Given the description of an element on the screen output the (x, y) to click on. 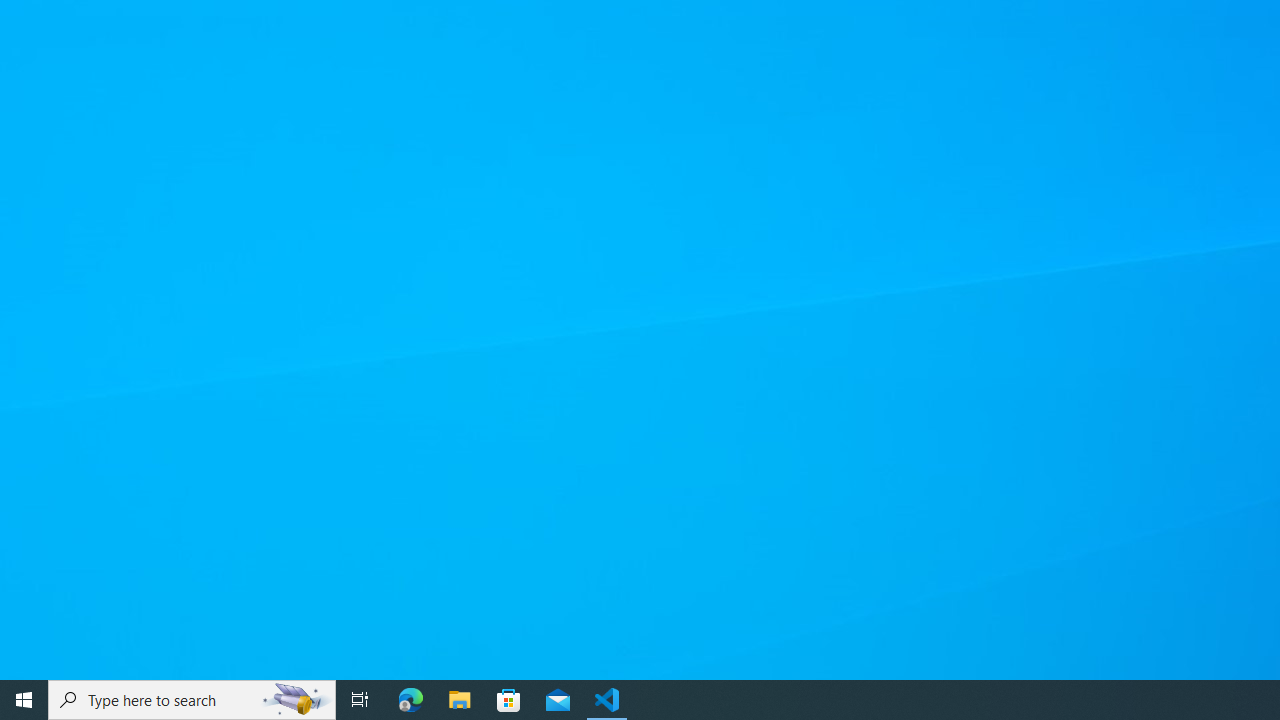
Microsoft Store (509, 699)
Microsoft Edge (411, 699)
Task View (359, 699)
Type here to search (191, 699)
Search highlights icon opens search home window (295, 699)
Start (24, 699)
File Explorer (460, 699)
Visual Studio Code - 1 running window (607, 699)
